Given the description of an element on the screen output the (x, y) to click on. 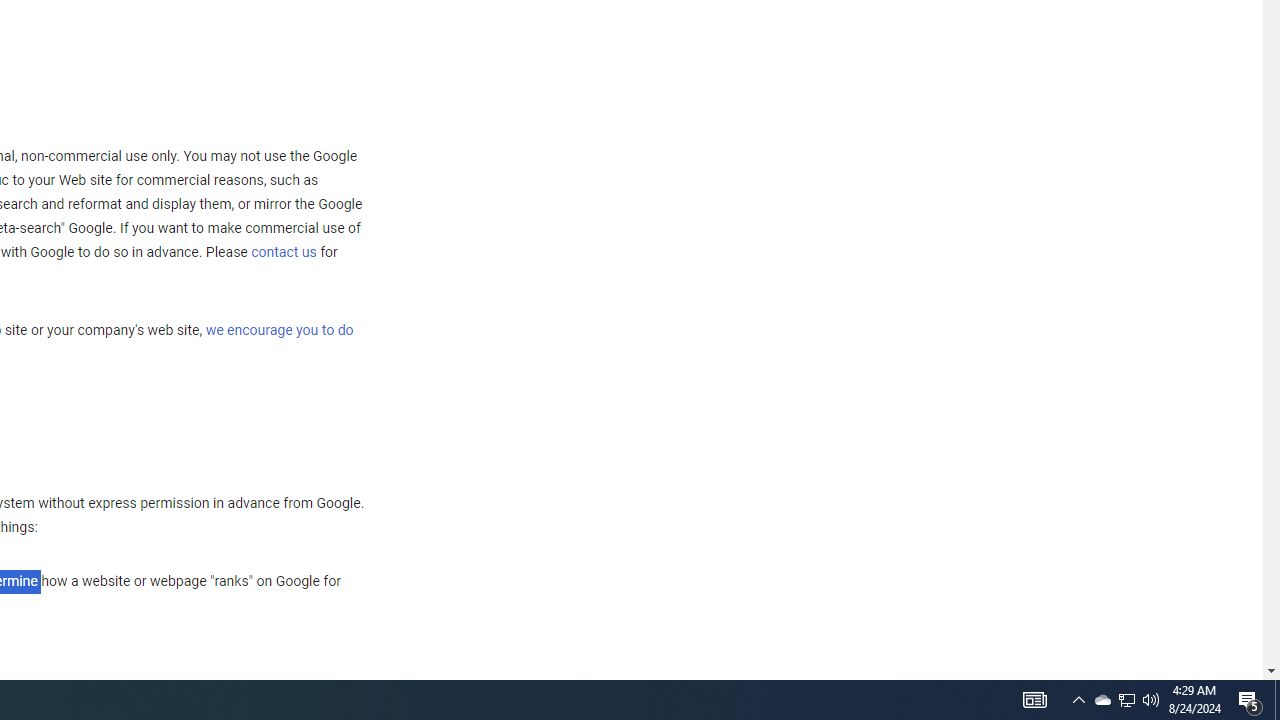
contact us (283, 251)
